Given the description of an element on the screen output the (x, y) to click on. 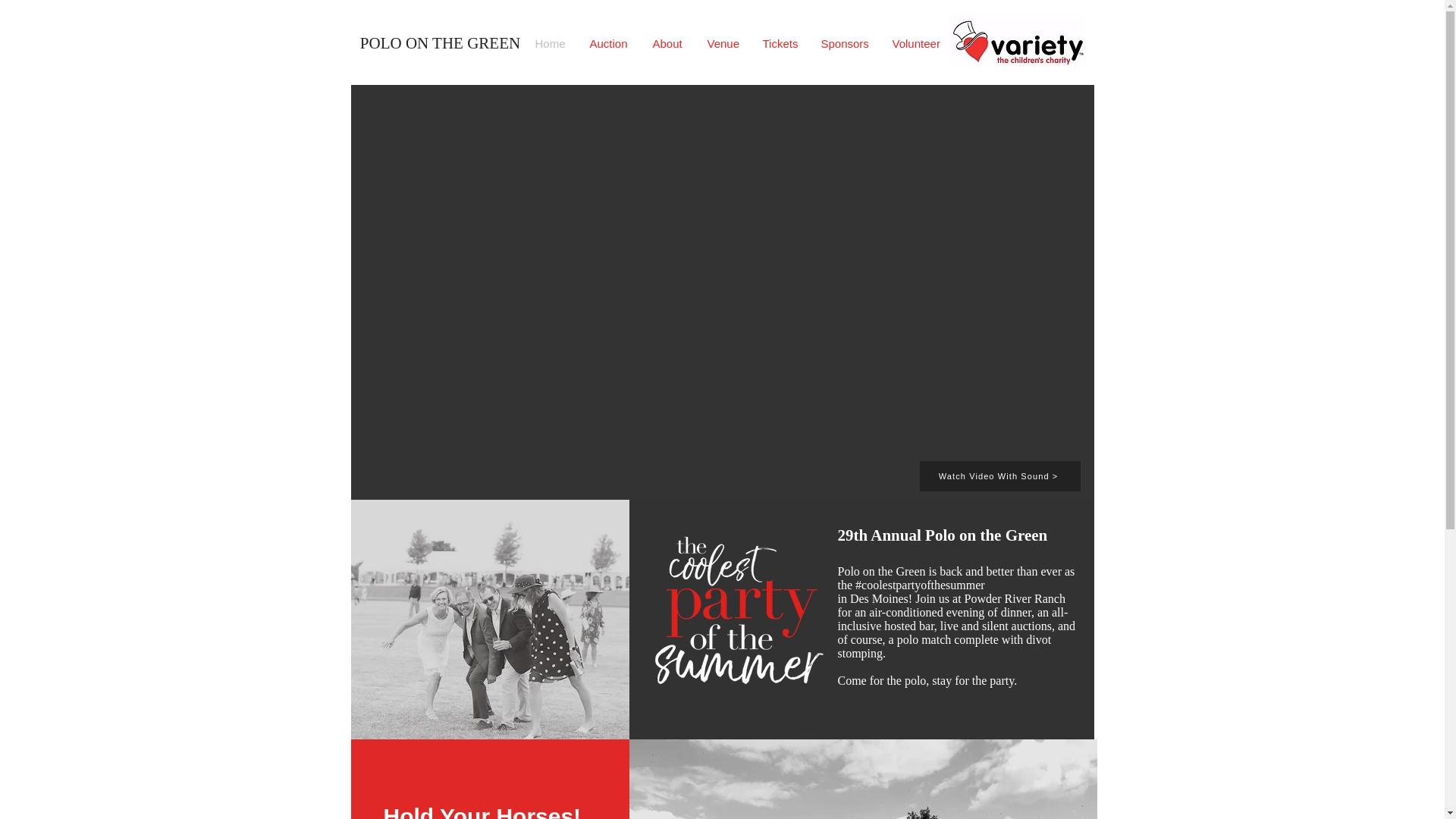
POLO ON THE GREEN (439, 43)
2014 Polo on the Green 171.jpg (489, 619)
Sponsors (844, 43)
Auction (609, 43)
Hold Your Horses! (482, 811)
About (668, 43)
Tickets (780, 43)
Home (550, 43)
Volunteer (917, 43)
Venue (723, 43)
